Given the description of an element on the screen output the (x, y) to click on. 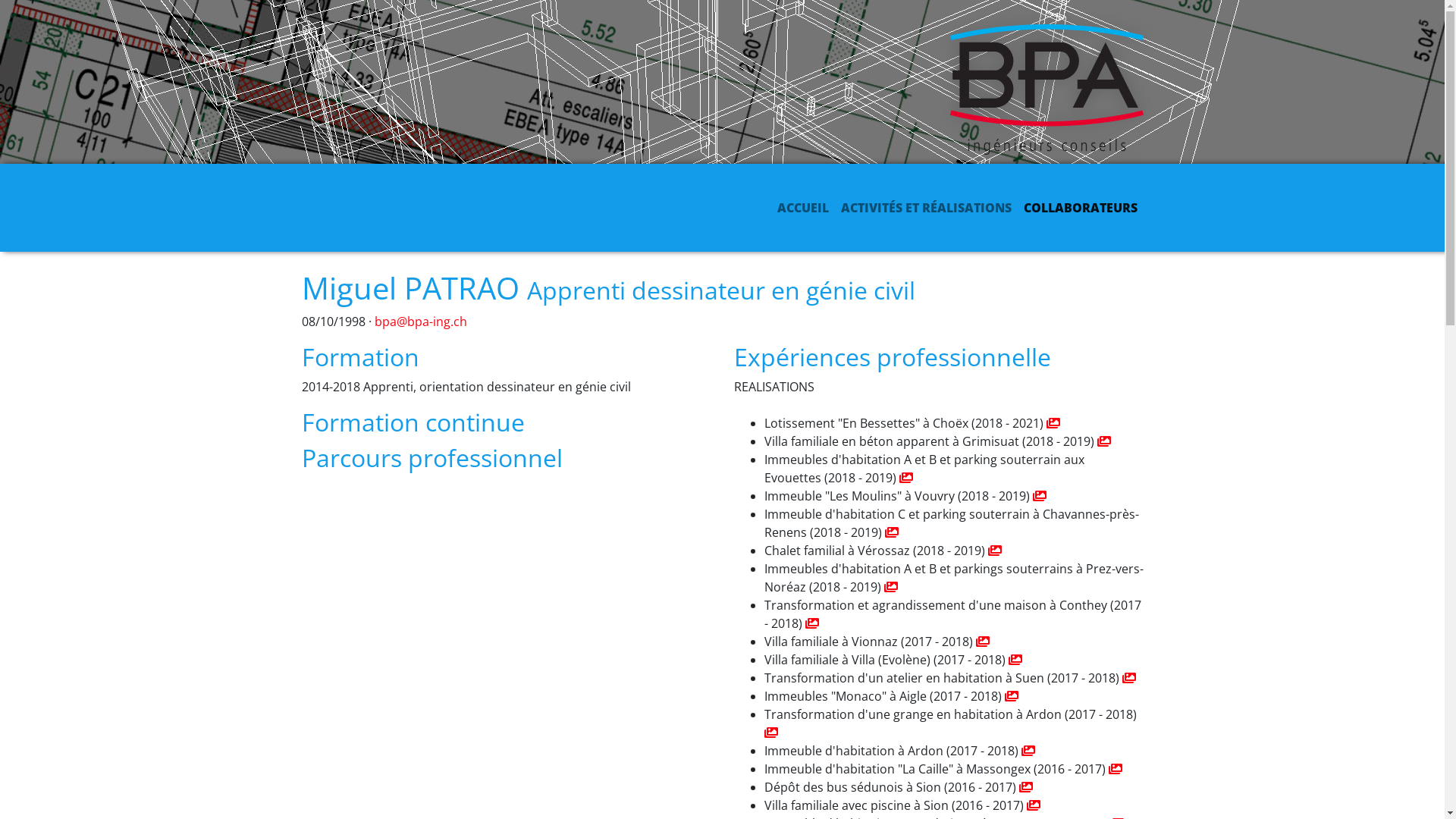
bpa@bpa-ing.ch Element type: text (420, 321)
COLLABORATEURS Element type: text (1080, 207)
ACCUEIL
(CURRENT) Element type: text (802, 207)
